Given the description of an element on the screen output the (x, y) to click on. 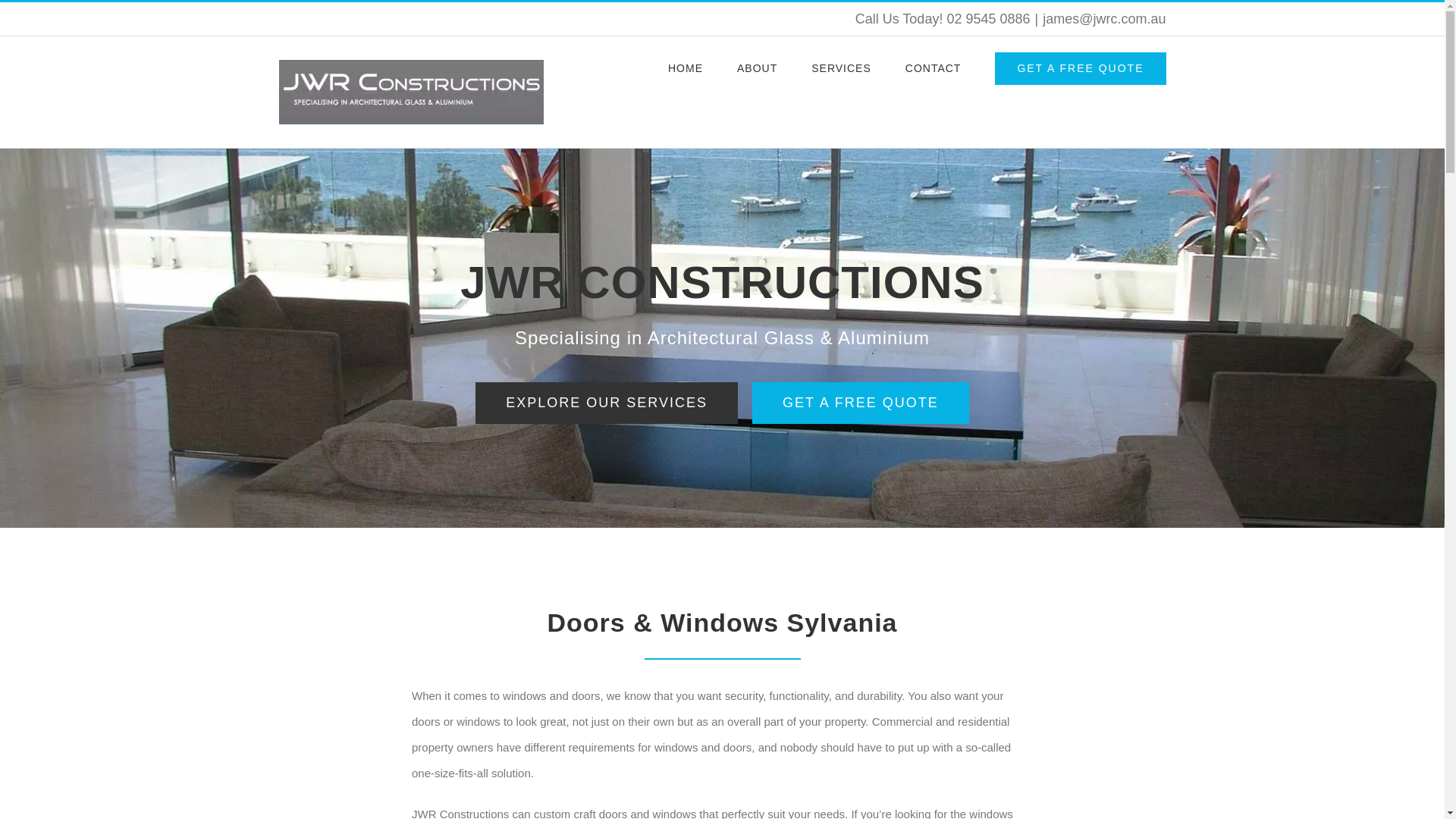
SERVICES (840, 67)
GET A FREE QUOTE (860, 403)
Call Us Today! 02 9545 0886 (943, 18)
EXPLORE OUR SERVICES (607, 403)
GET A FREE QUOTE (1080, 67)
